Given the description of an element on the screen output the (x, y) to click on. 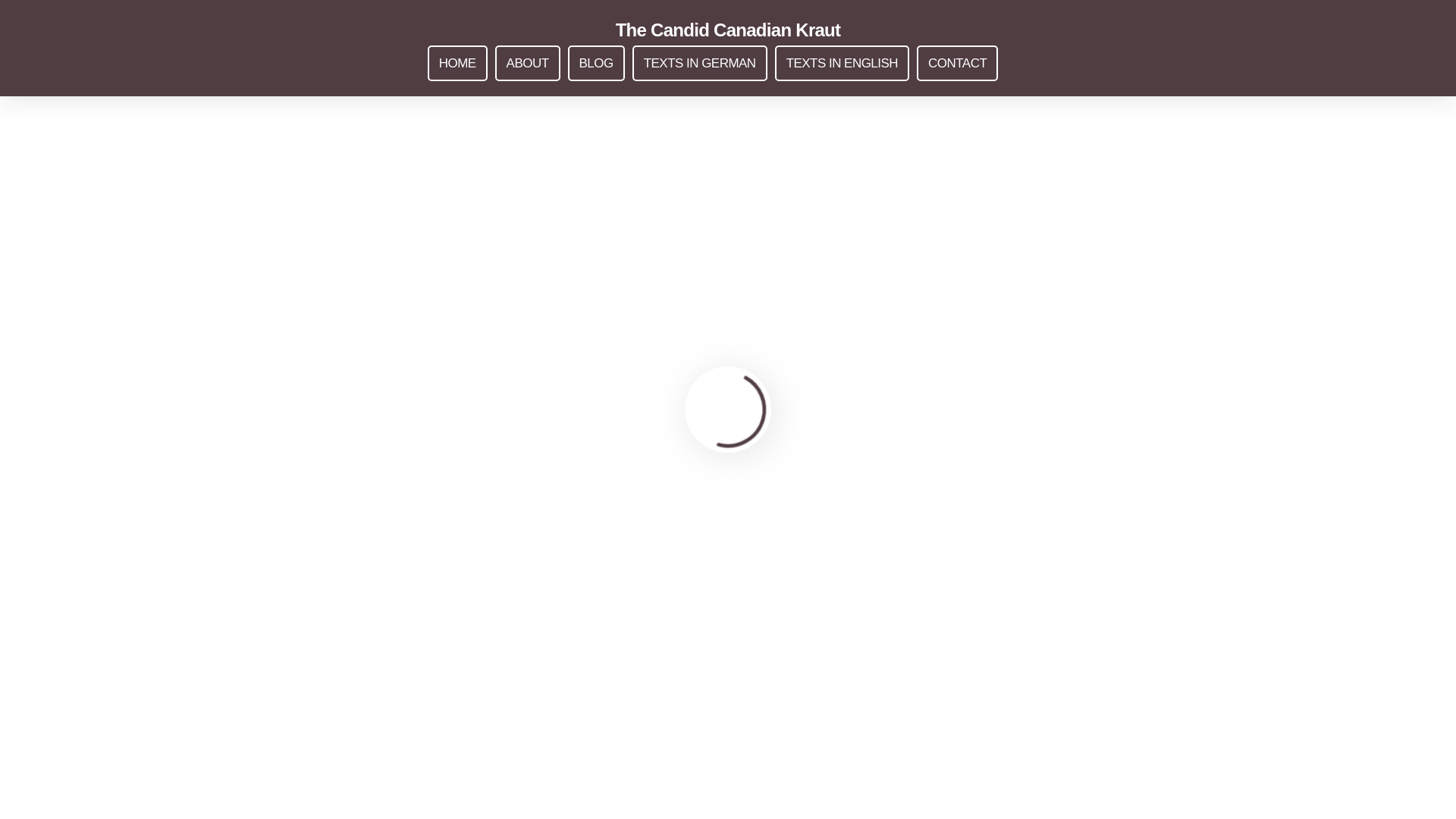
TEXTS IN GERMAN (699, 63)
CONTACT (957, 63)
TEXTS IN ENGLISH (841, 63)
The Candid Canadian Kraut (728, 30)
HOME (457, 63)
BLOG (595, 63)
ABOUT (527, 63)
